Given the description of an element on the screen output the (x, y) to click on. 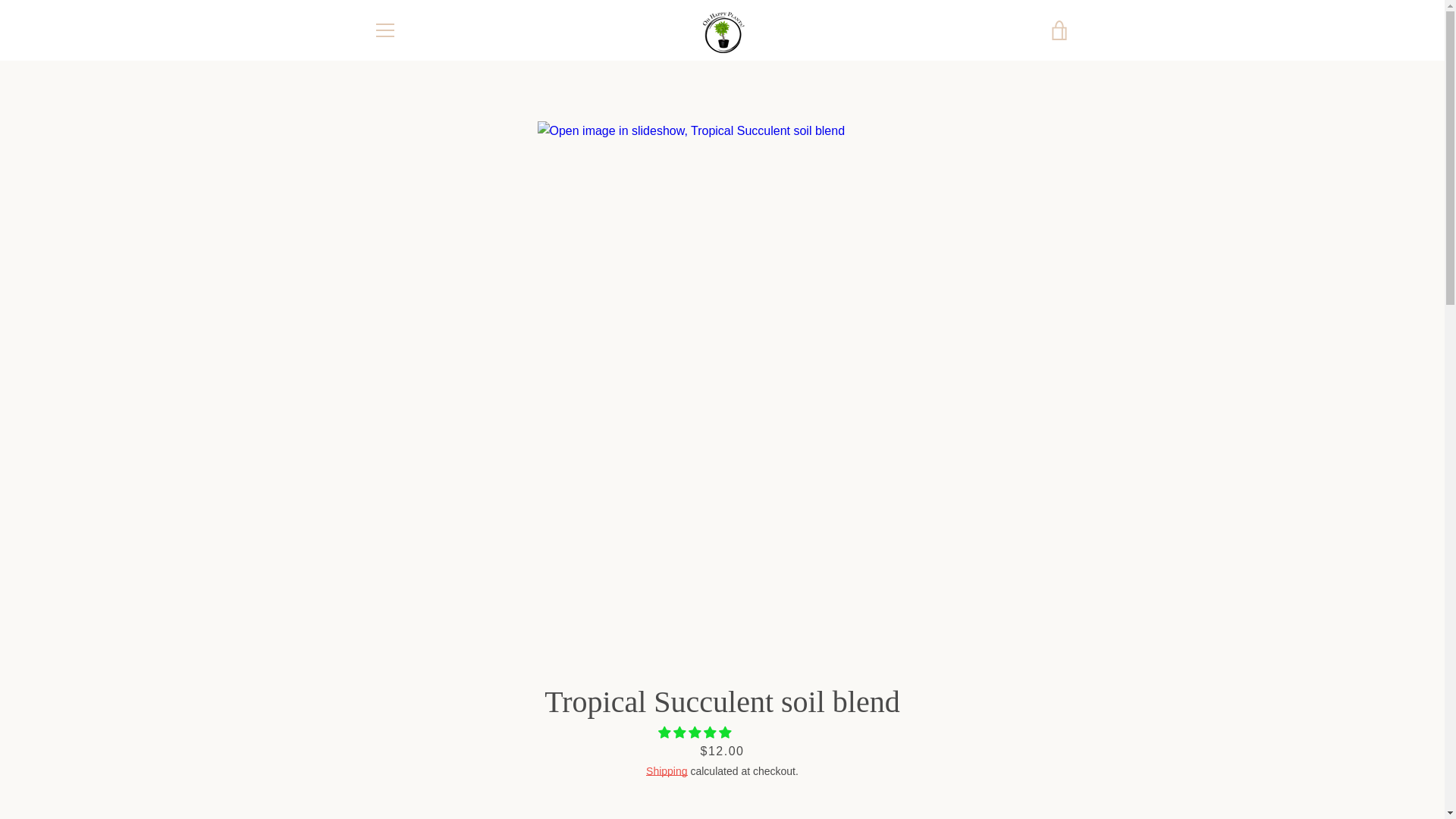
VIEW CART (1059, 30)
Shipping (666, 770)
MENU (384, 30)
